Given the description of an element on the screen output the (x, y) to click on. 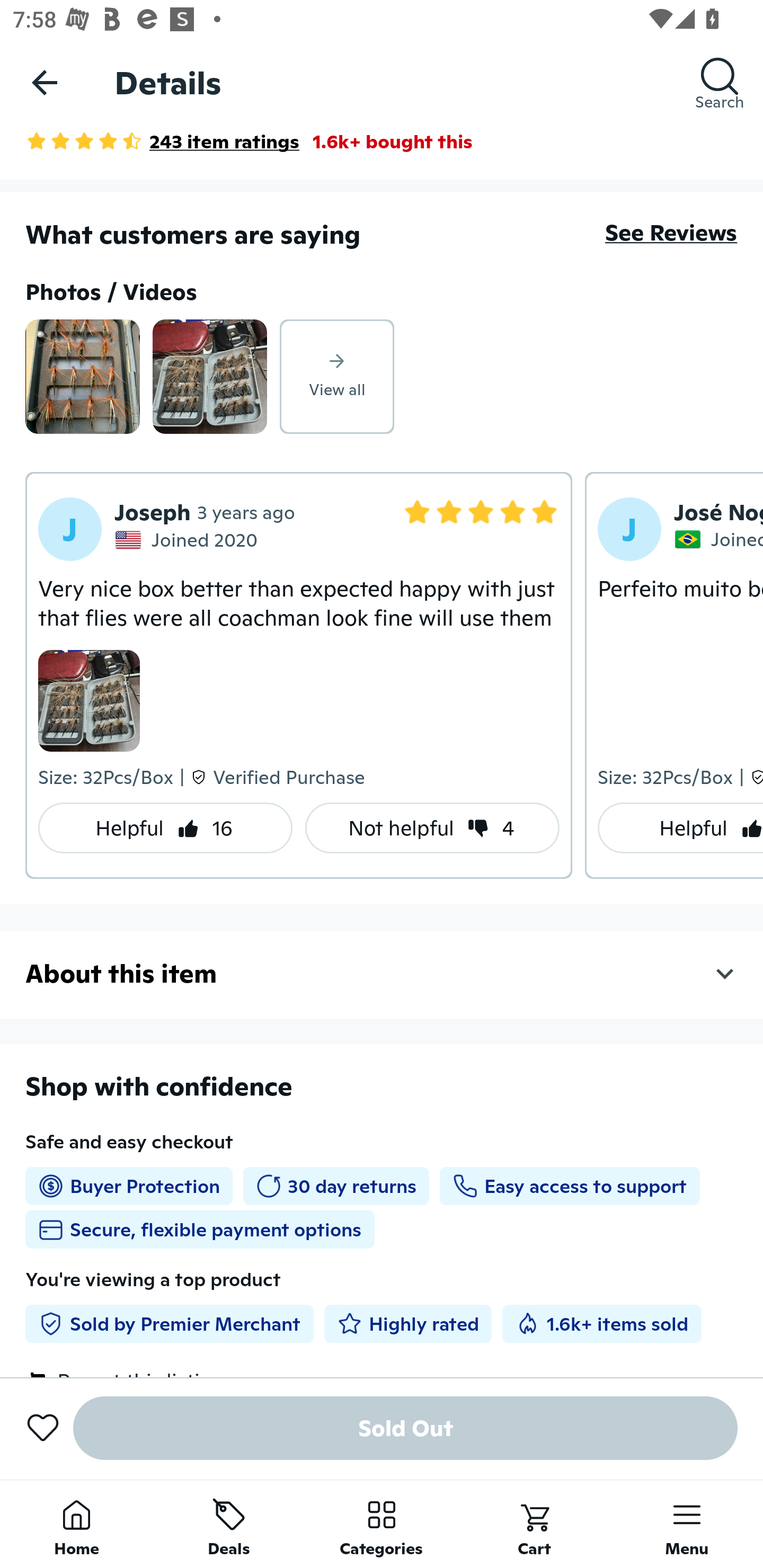
Navigate up (44, 82)
Search (719, 82)
4.3 Star Rating 243 item ratings (162, 140)
See Reviews (671, 232)
Right arrow View all (337, 376)
J (69, 529)
Joseph (152, 511)
J (629, 529)
José Noguei Ra (718, 511)
Joined 2020  (718, 538)
Joined 2020  (188, 538)
Helpful 16 (165, 827)
Not helpful 4 (432, 827)
Helpful (680, 827)
About this item (381, 973)
Buyer Protection (128, 1185)
30 day returns (335, 1185)
Easy access to support (569, 1185)
Secure, flexible payment options (199, 1229)
Sold by Premier Merchant (169, 1323)
Highly rated (407, 1323)
1.6k+ items sold (601, 1323)
Sold Out (405, 1428)
Home (76, 1523)
Deals (228, 1523)
Categories (381, 1523)
Cart (533, 1523)
Menu (686, 1523)
